Given the description of an element on the screen output the (x, y) to click on. 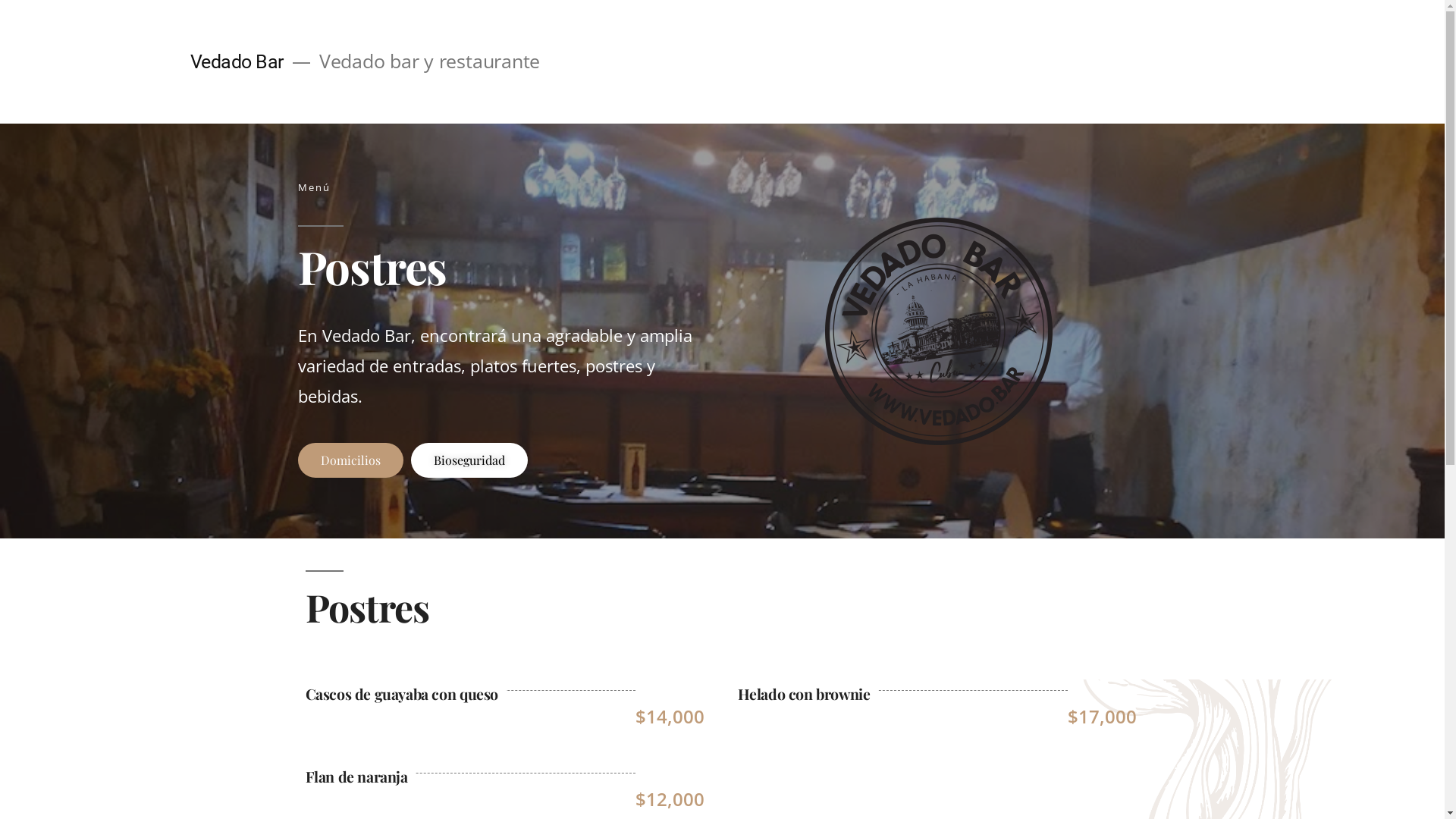
Bioseguridad Element type: text (469, 459)
Vedado Bar Element type: text (235, 61)
Domicilios Element type: text (349, 459)
